Given the description of an element on the screen output the (x, y) to click on. 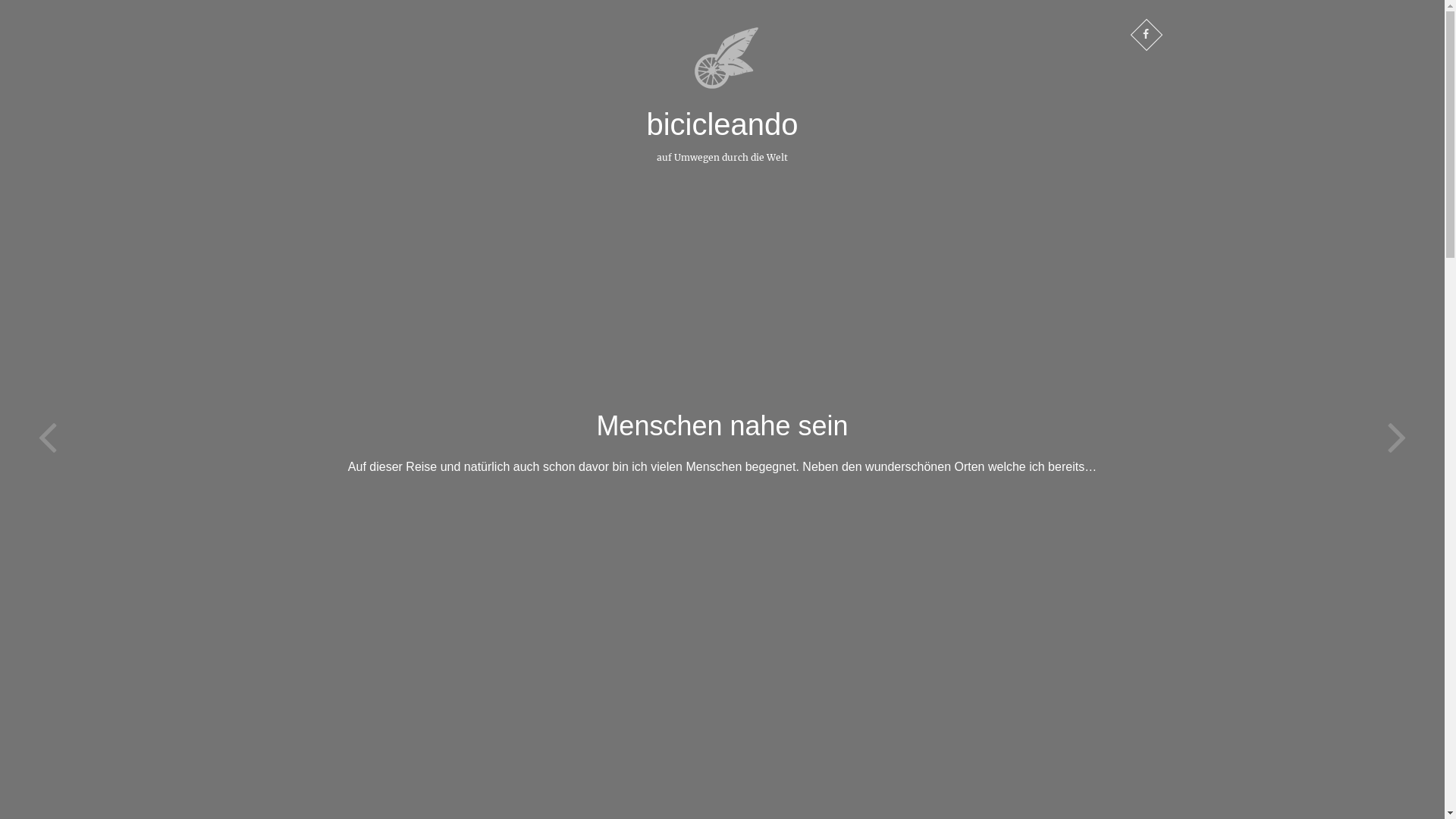
bicicleando Element type: text (721, 124)
Menschen nahe sein Element type: text (721, 425)
